Given the description of an element on the screen output the (x, y) to click on. 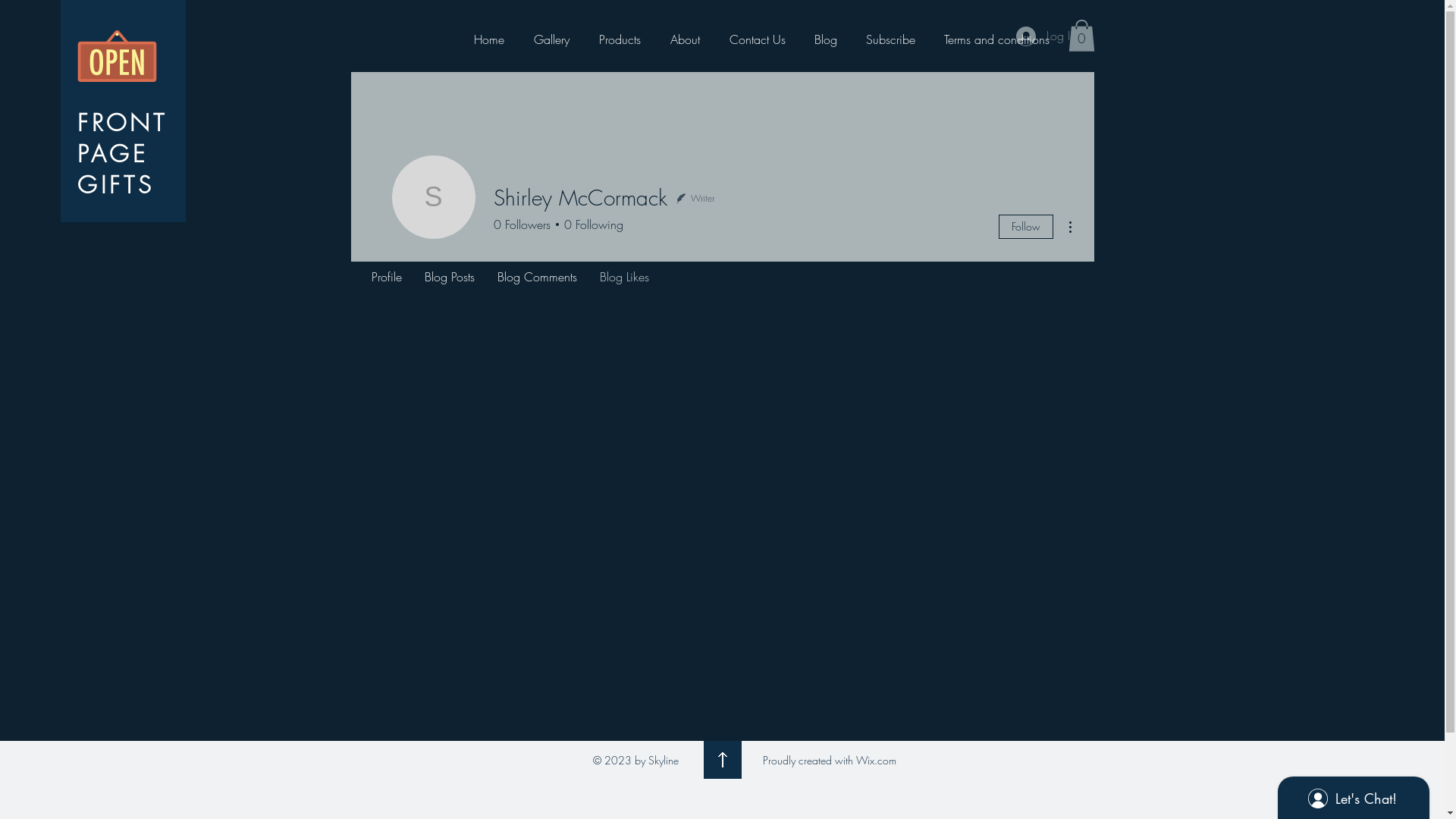
Proudly created with Wix.com Element type: text (829, 760)
Home Element type: text (489, 39)
Subscribe Element type: text (889, 39)
0
Followers Element type: text (520, 224)
Blog Likes Element type: text (624, 276)
Blog Comments Element type: text (536, 276)
Log In Element type: text (1045, 35)
Blog Element type: text (824, 39)
Gallery Element type: text (550, 39)
Terms and conditions Element type: text (996, 39)
Profile Element type: text (385, 276)
FRONT PAGE GIFTS Element type: text (121, 153)
Contact Us Element type: text (756, 39)
0 Element type: text (1080, 35)
Follow Element type: text (1024, 226)
Products Element type: text (619, 39)
0
Following Element type: text (590, 224)
About Element type: text (684, 39)
Blog Posts Element type: text (448, 276)
